Given the description of an element on the screen output the (x, y) to click on. 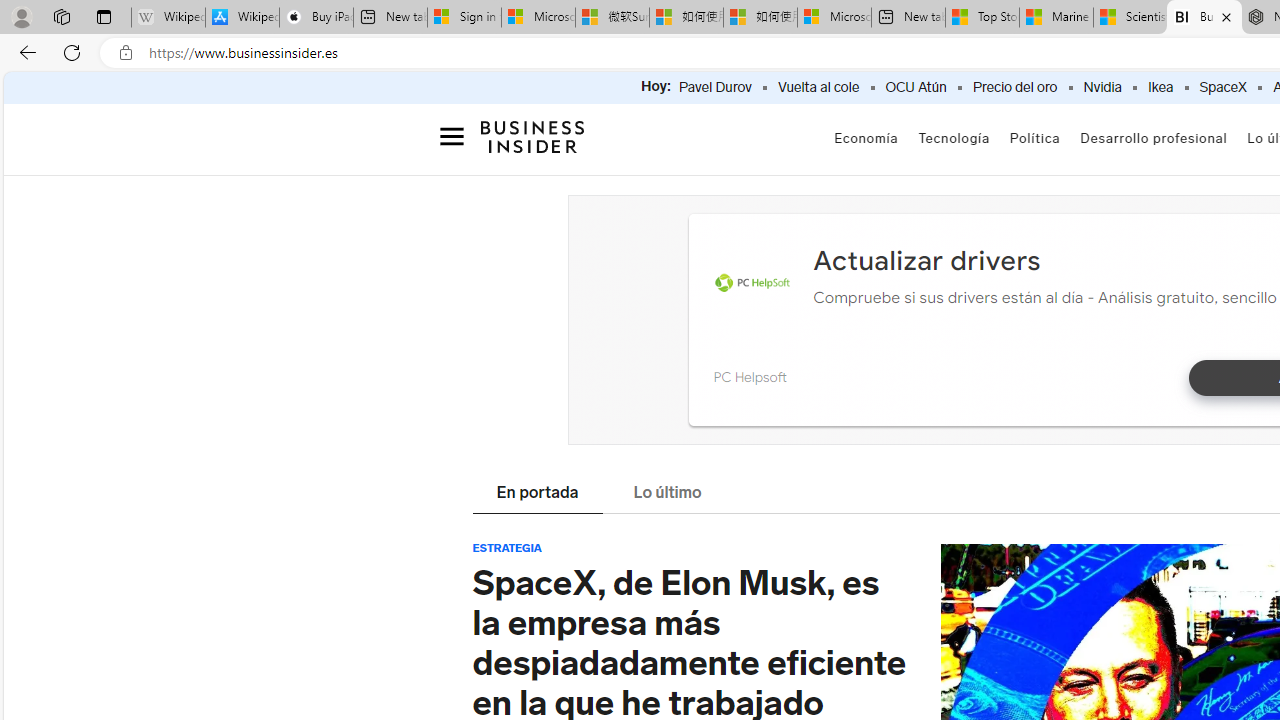
Ikea (1159, 88)
Pavel Durov (714, 88)
PC Helpsoft (752, 283)
Logo BusinessInsider.es (532, 136)
En portada (537, 494)
Nvidia (1102, 88)
Precio del oro (1014, 88)
Vuelta al cole (818, 88)
